Given the description of an element on the screen output the (x, y) to click on. 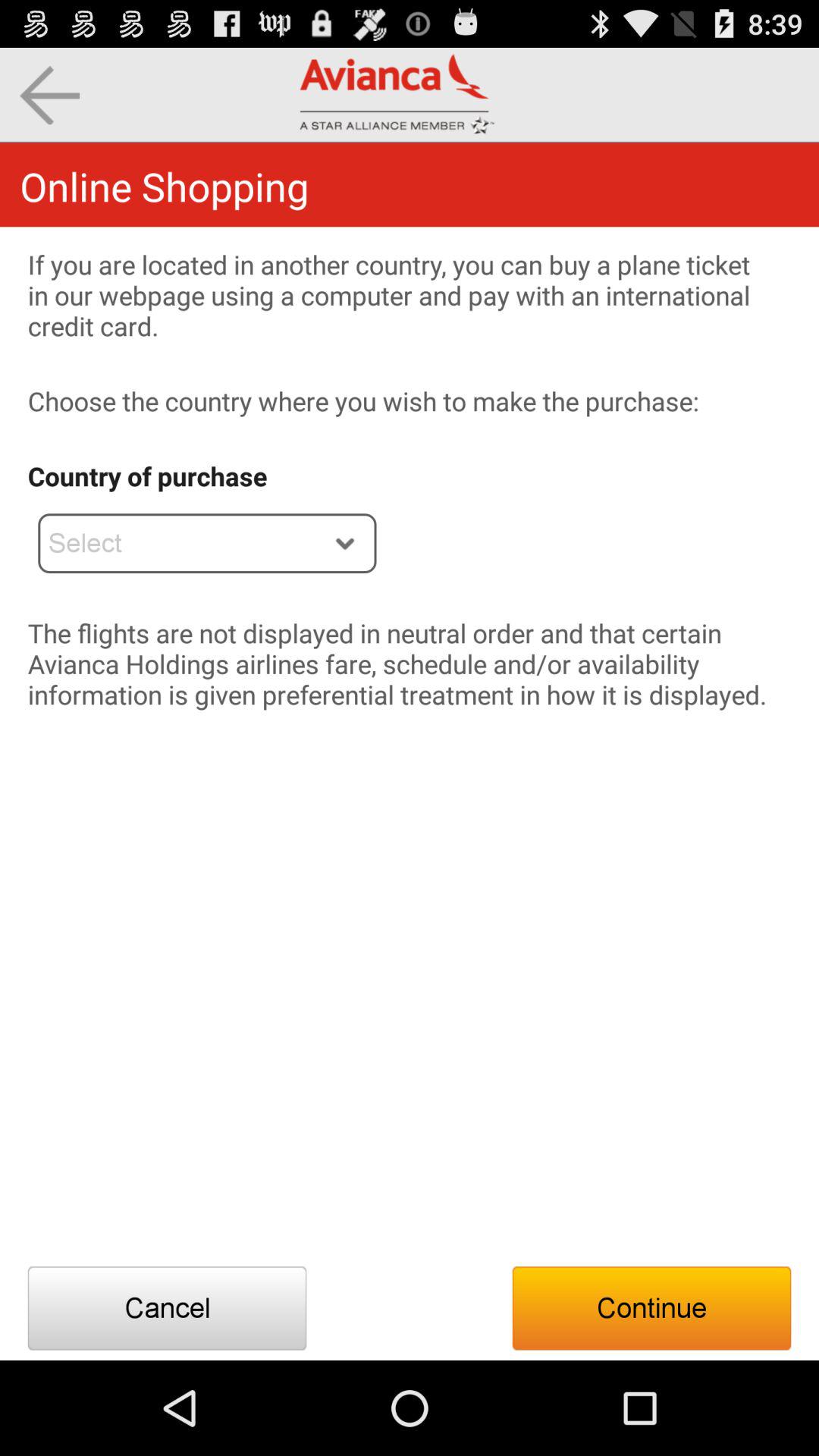
select button to the right of cancel icon (651, 1308)
